Given the description of an element on the screen output the (x, y) to click on. 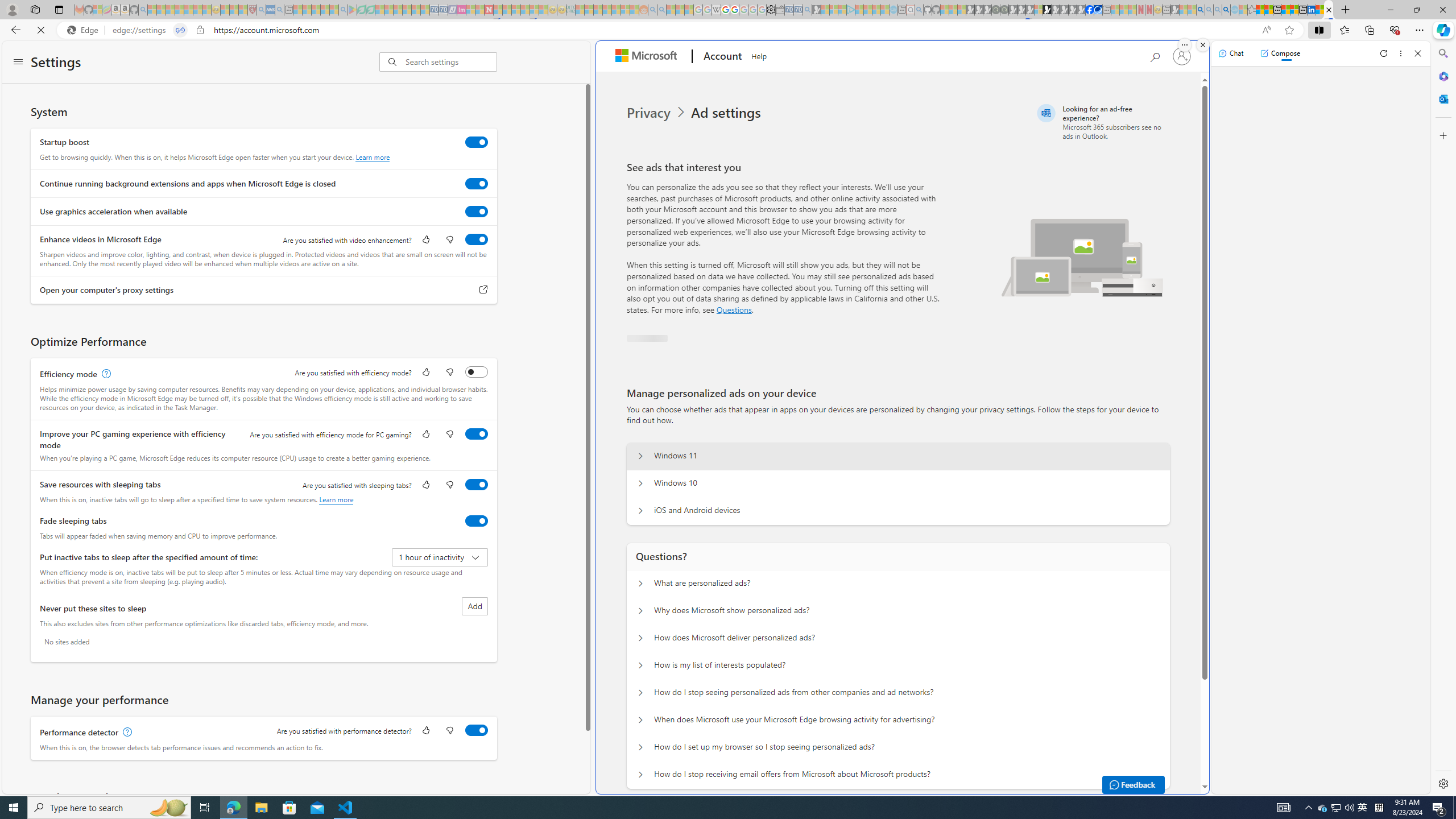
google - Search - Sleeping (342, 9)
Go to Questions section (733, 309)
Settings menu (18, 62)
Bluey: Let's Play! - Apps on Google Play - Sleeping (352, 9)
Account (721, 56)
MSN - Sleeping (1174, 9)
Questions? Why does Microsoft show personalized ads? (640, 610)
